Given the description of an element on the screen output the (x, y) to click on. 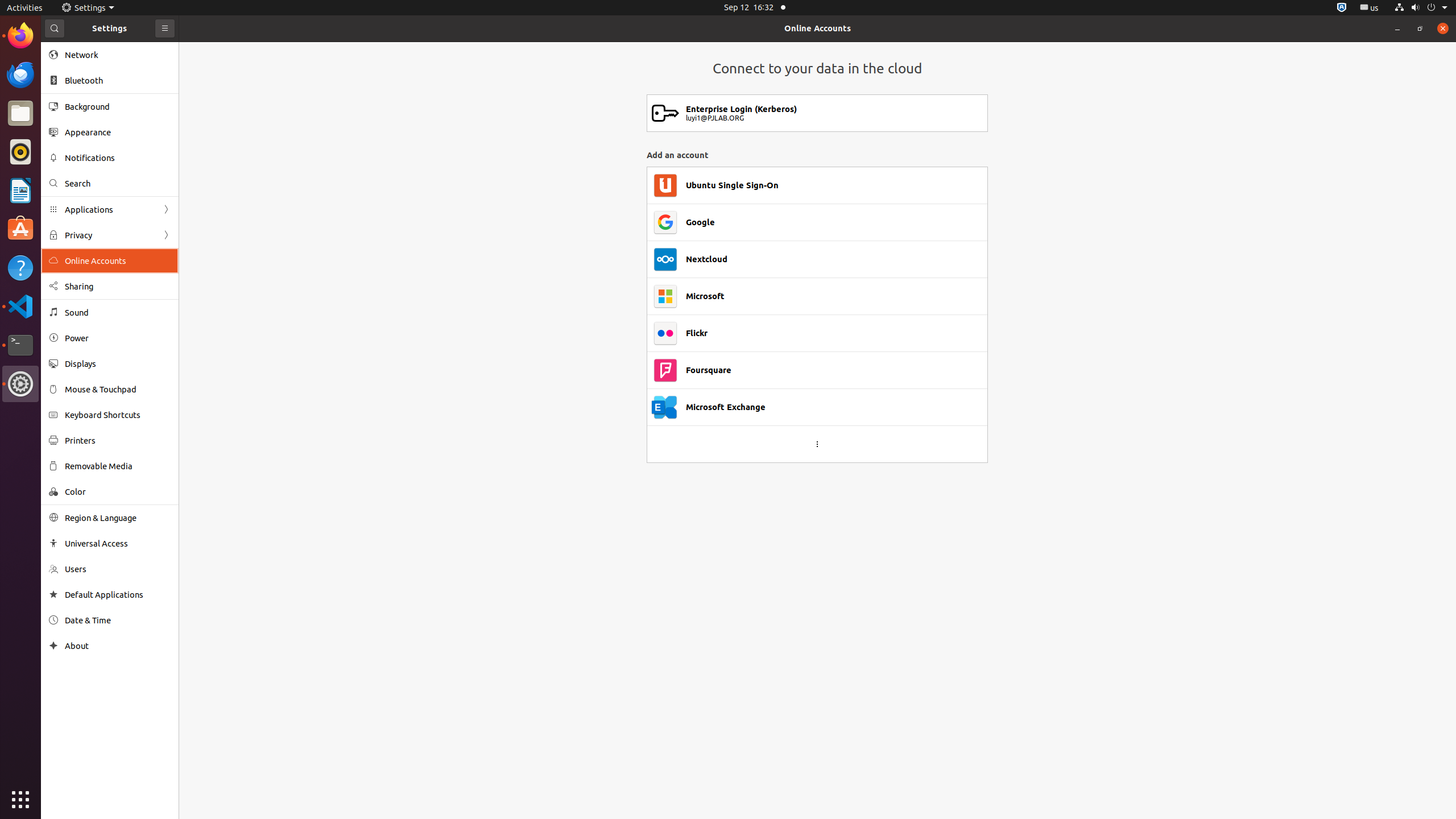
IsaHelpMain.desktop Element type: label (75, 170)
Ubuntu Single Sign-On Element type: label (731, 185)
Bluetooth Element type: label (117, 80)
